Given the description of an element on the screen output the (x, y) to click on. 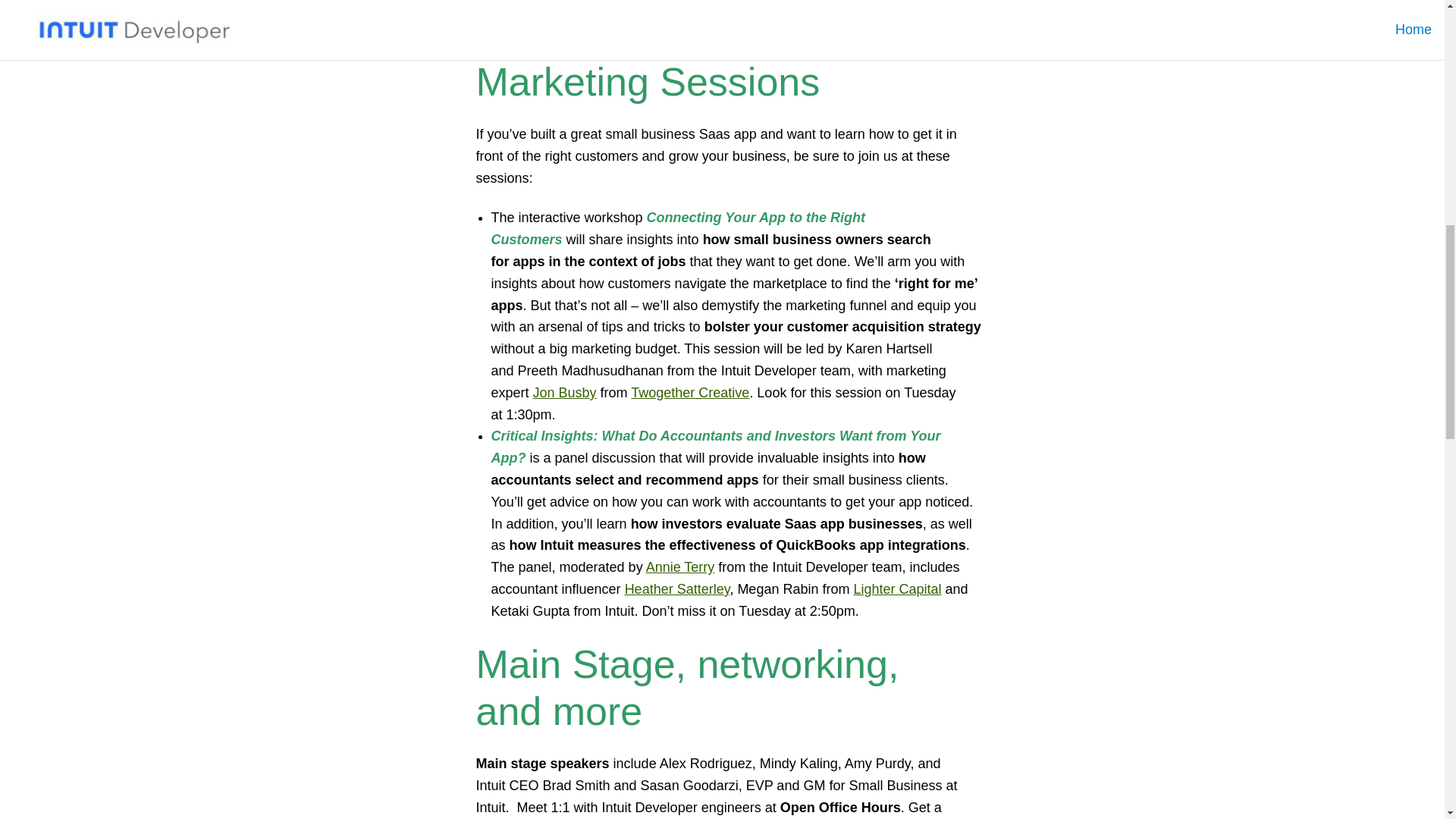
Jon Busby (564, 392)
Annie Terry (680, 566)
Lighter Capital (896, 589)
Twogether Creative (689, 392)
chata.ai (546, 28)
Heather Satterley (677, 589)
